Given the description of an element on the screen output the (x, y) to click on. 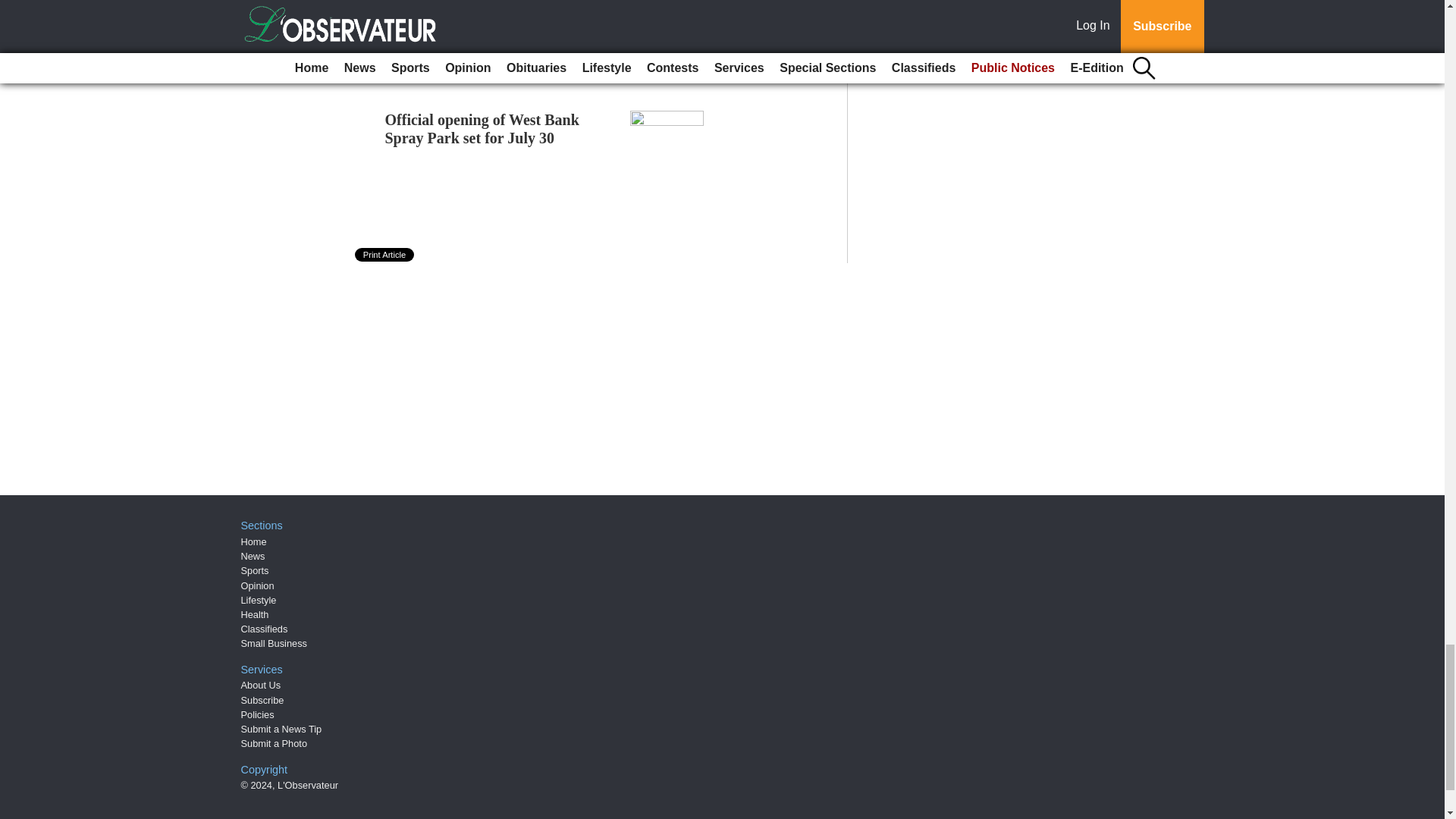
Official opening of West Bank Spray Park set for July 30 (482, 128)
Print Article (384, 254)
Official opening of West Bank Spray Park set for July 30 (482, 128)
